Given the description of an element on the screen output the (x, y) to click on. 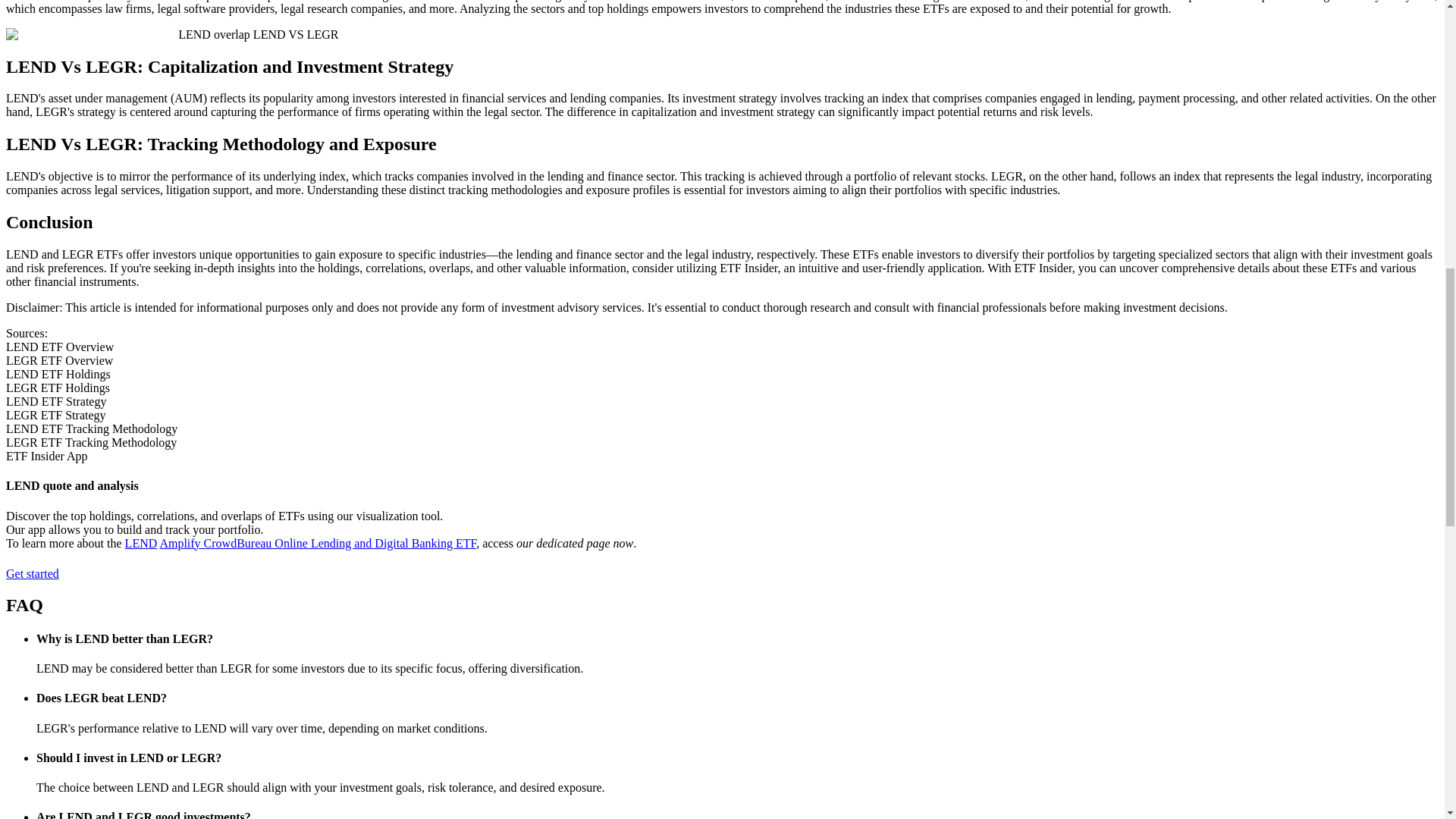
LEND (141, 543)
Get started (39, 573)
Amplify CrowdBureau Online Lending and Digital Banking ETF (317, 543)
